Given the description of an element on the screen output the (x, y) to click on. 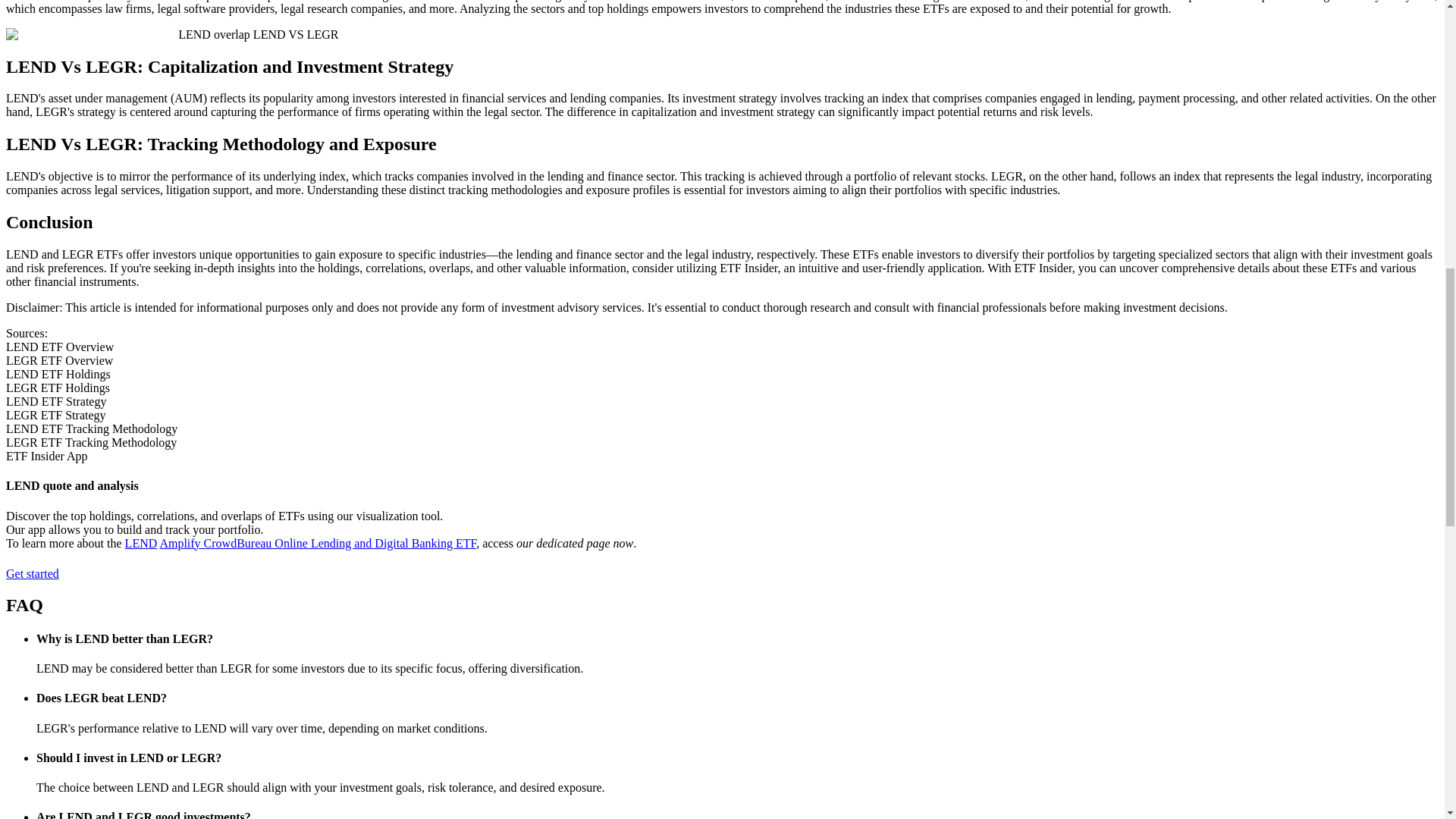
LEND (141, 543)
Get started (39, 573)
Amplify CrowdBureau Online Lending and Digital Banking ETF (317, 543)
